Given the description of an element on the screen output the (x, y) to click on. 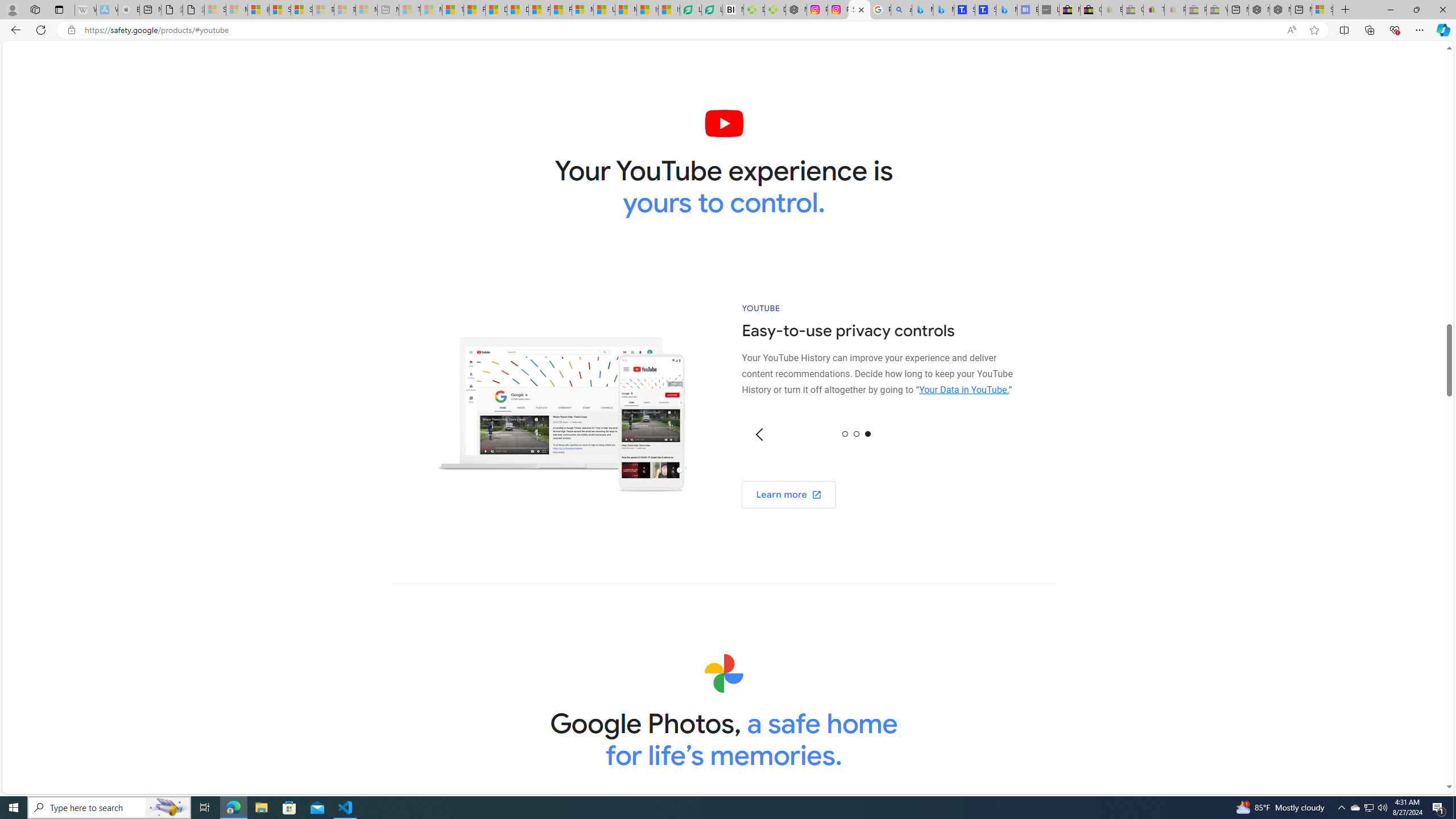
Microsoft Bing Travel - Shangri-La Hotel Bangkok (1006, 9)
Descarga Driver Updater (775, 9)
The YouTube logo (724, 122)
Wikipedia - Sleeping (85, 9)
Threats and offensive language policy | eBay (1153, 9)
